Given the description of an element on the screen output the (x, y) to click on. 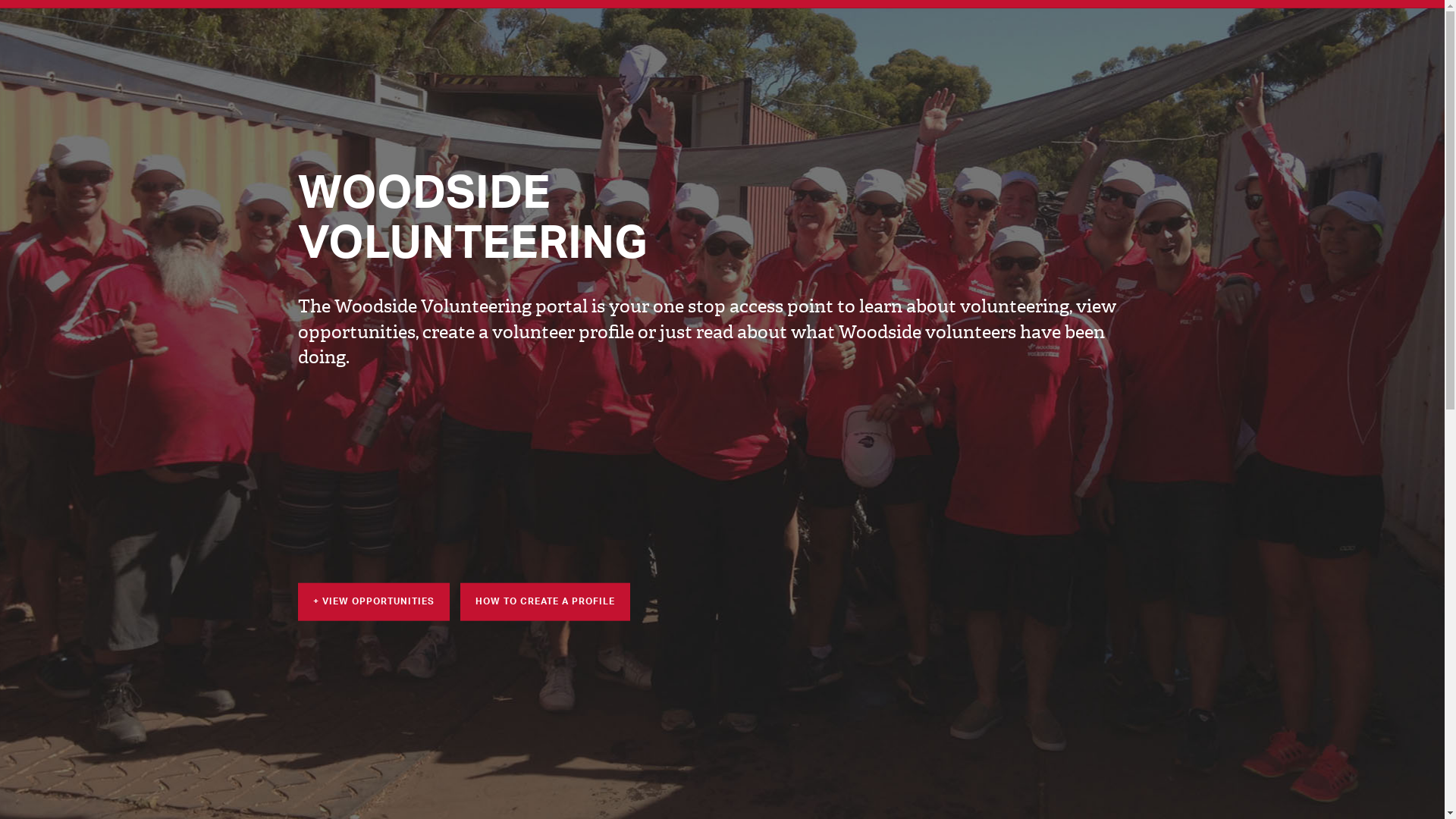
HOW TO CREATE A PROFILE Element type: text (544, 601)
+ VIEW OPPORTUNITIES Element type: text (372, 601)
